Given the description of an element on the screen output the (x, y) to click on. 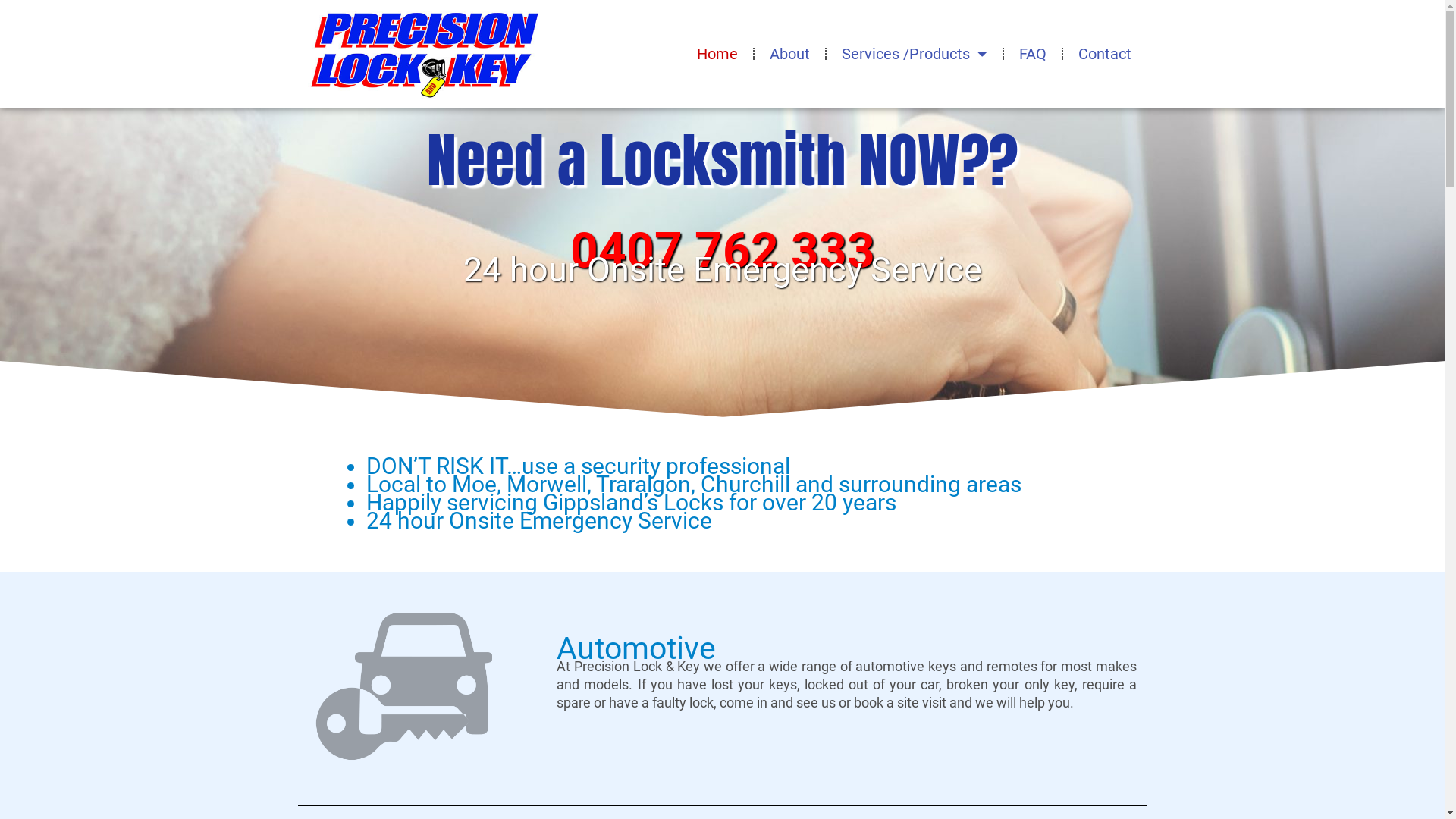
Automotive Element type: text (635, 648)
FAQ Element type: text (1032, 53)
Home Element type: text (717, 53)
Contact Element type: text (1104, 53)
0407 762 333 Element type: text (722, 250)
About Element type: text (789, 53)
Services /Products Element type: text (914, 53)
